Given the description of an element on the screen output the (x, y) to click on. 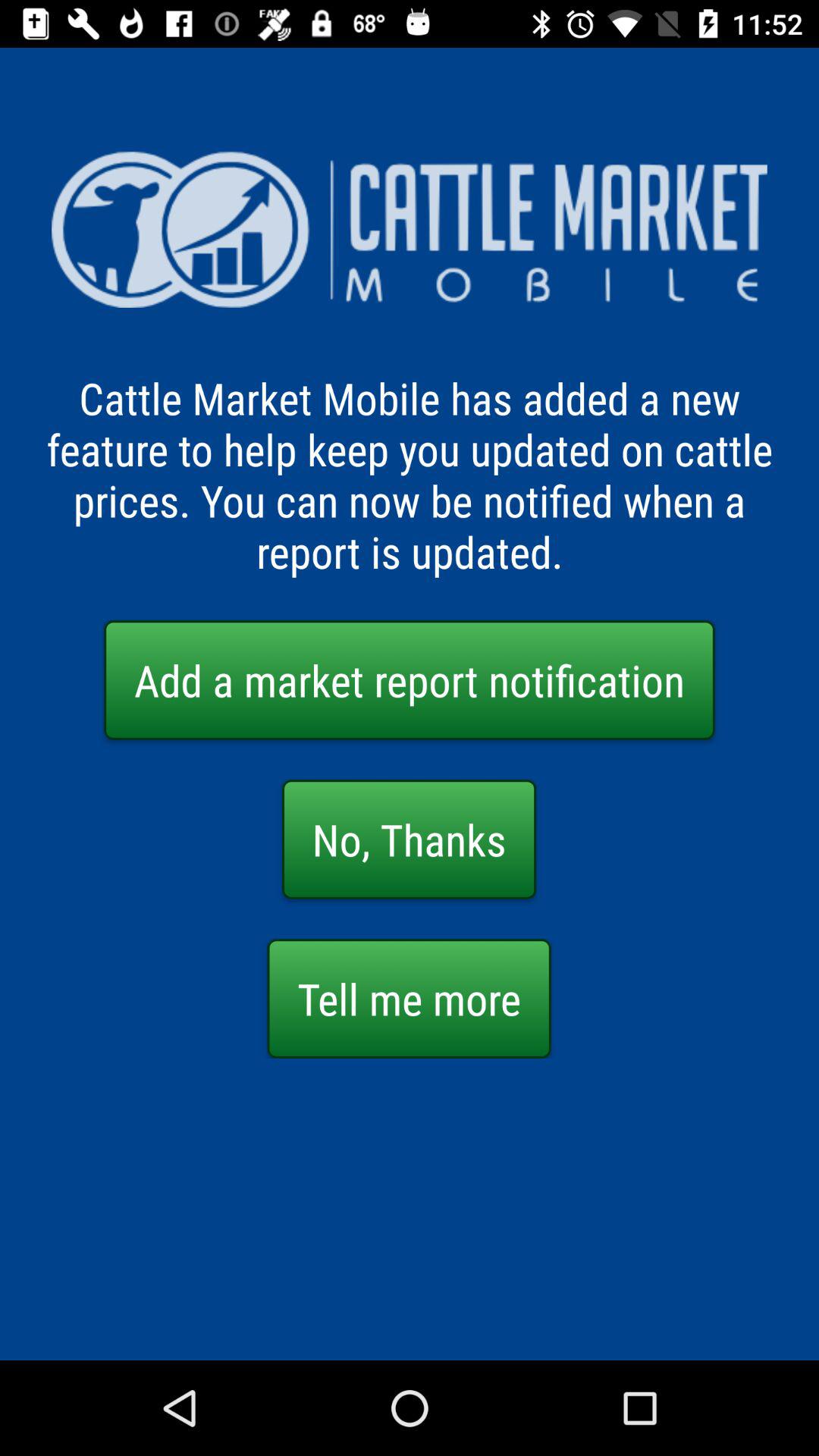
click the item below no, thanks icon (409, 998)
